Given the description of an element on the screen output the (x, y) to click on. 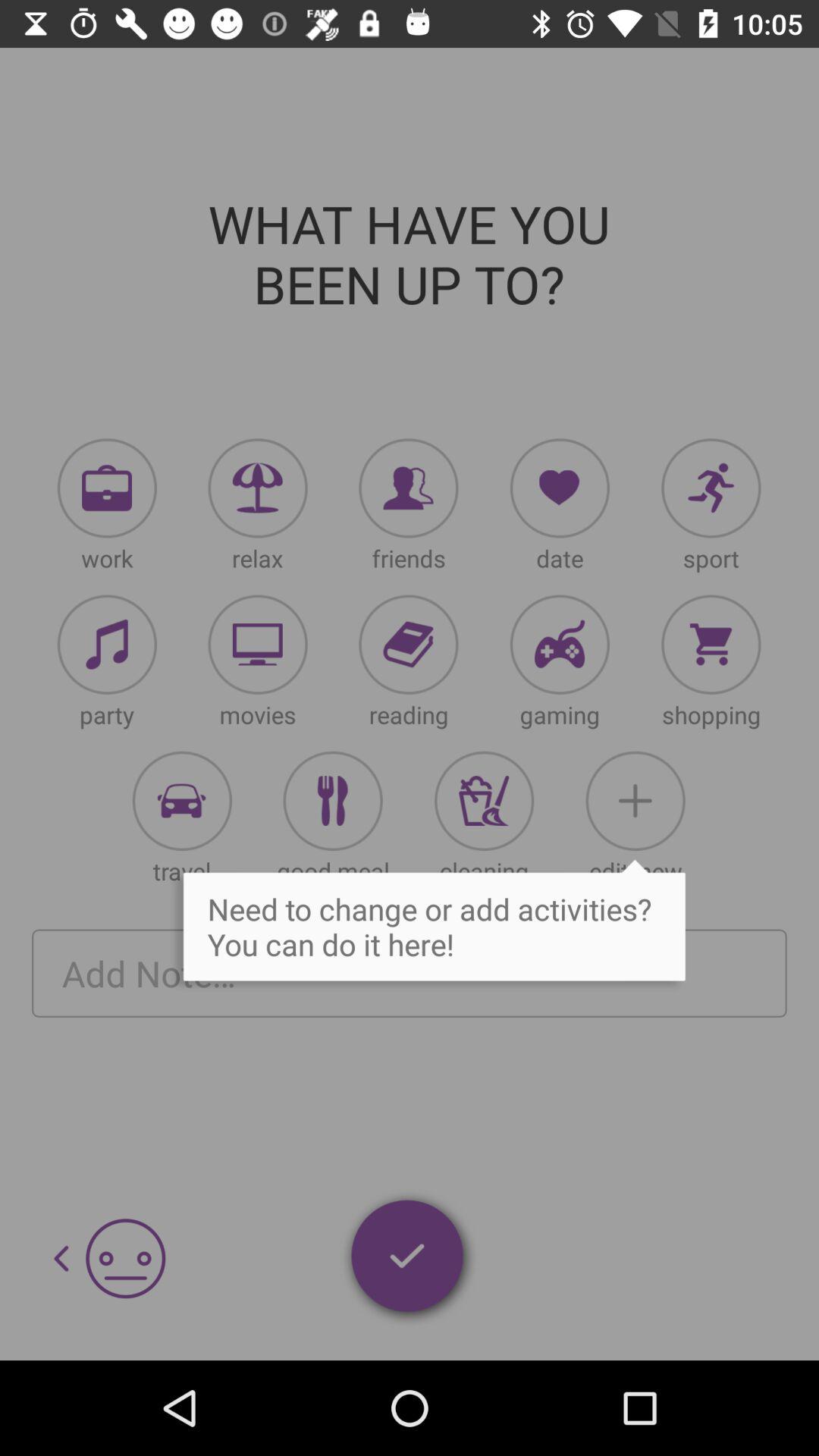
confirm (408, 1258)
